Given the description of an element on the screen output the (x, y) to click on. 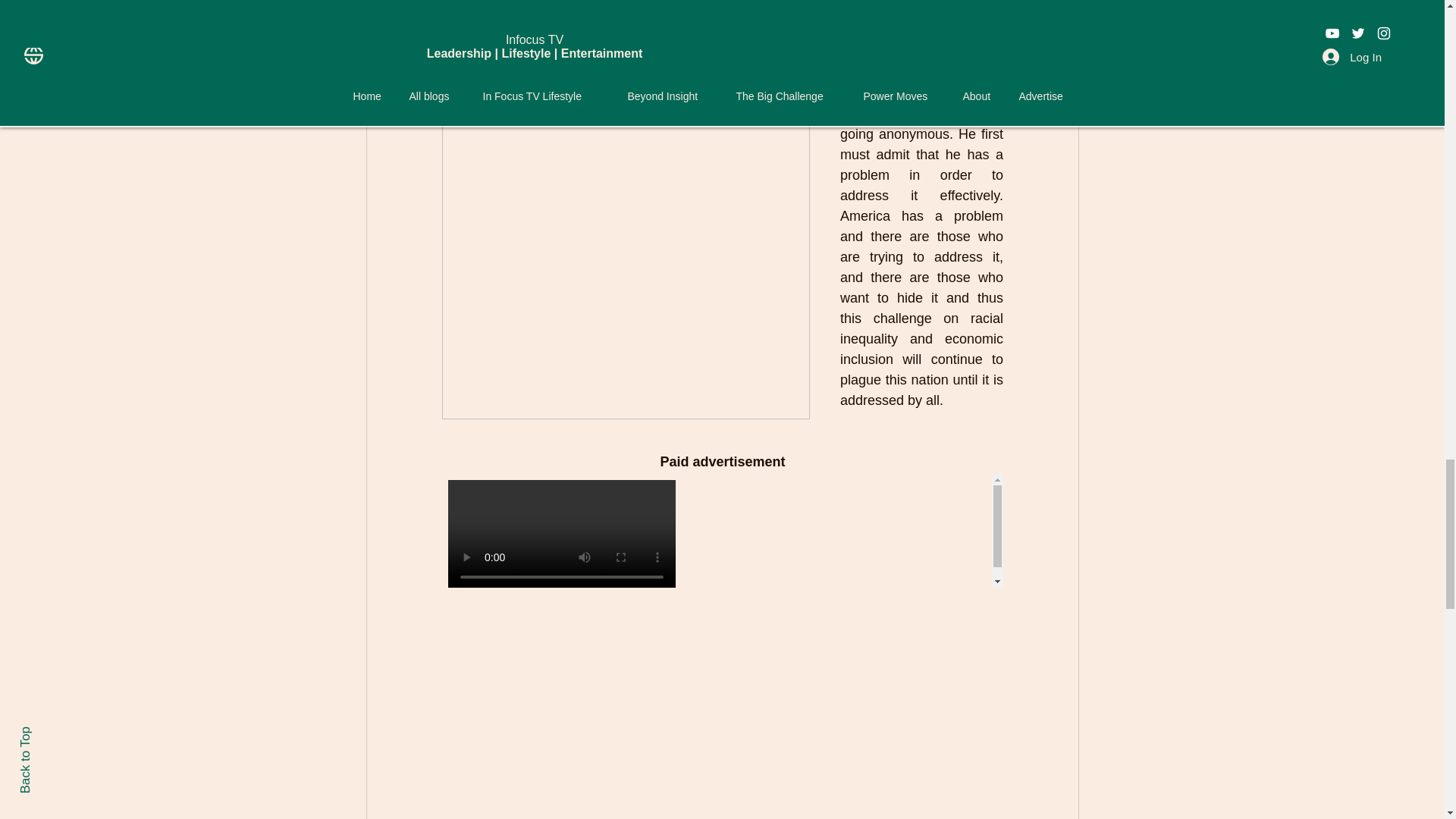
ricos-video (722, 531)
